Given the description of an element on the screen output the (x, y) to click on. 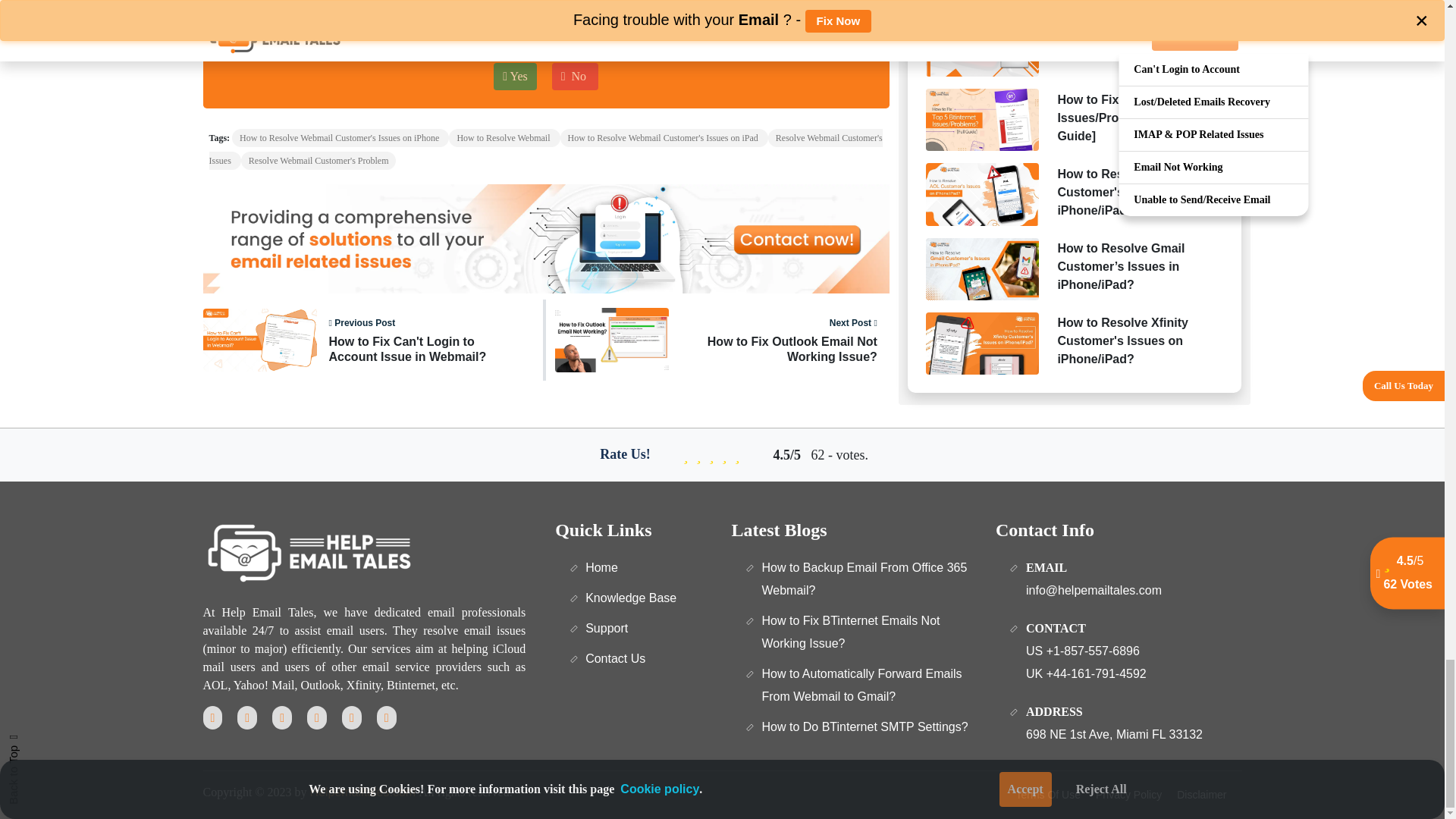
Yes (515, 76)
 No  (779, 340)
